Given the description of an element on the screen output the (x, y) to click on. 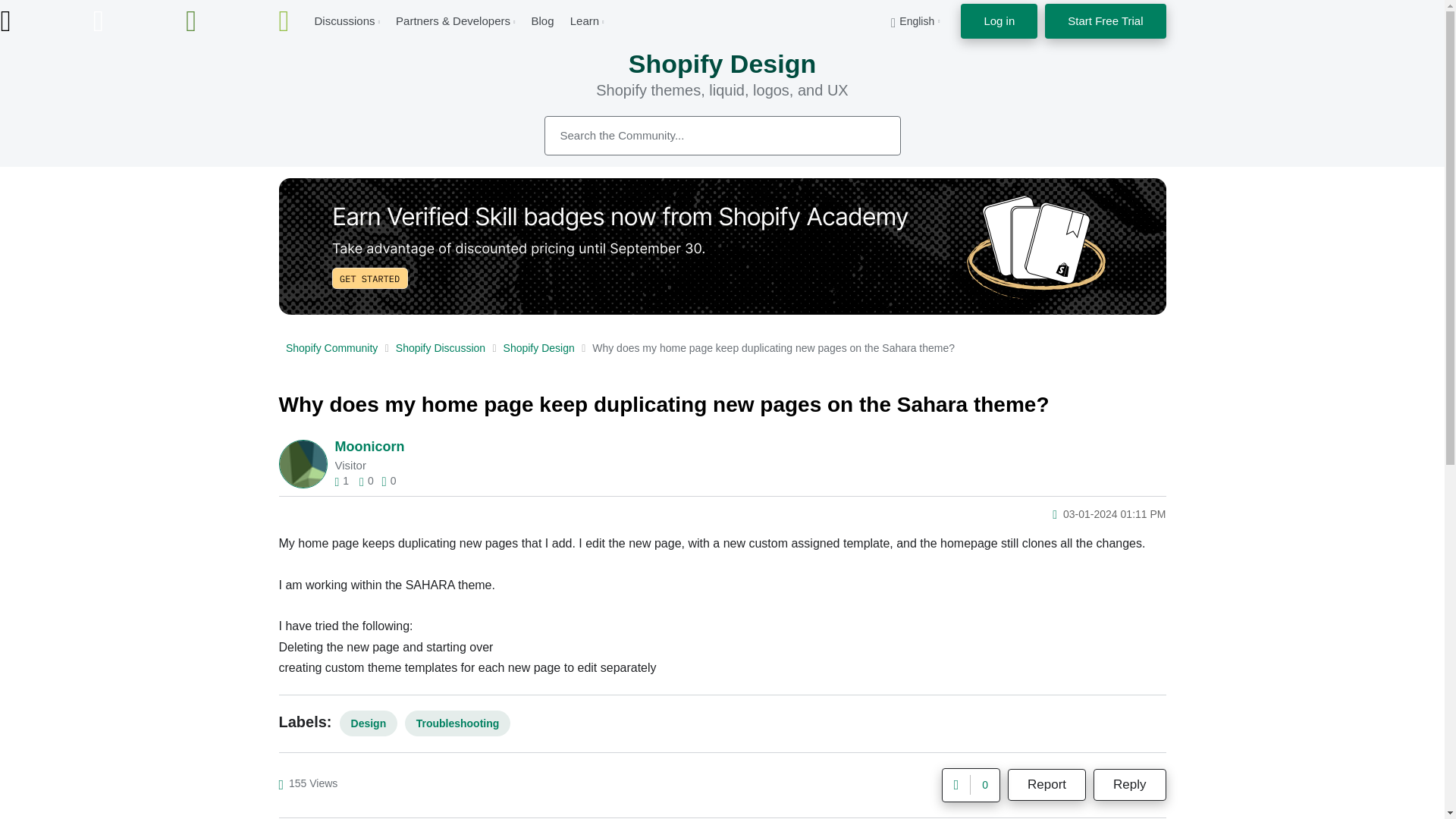
Search (872, 135)
Search (872, 135)
Discussions (344, 20)
Search (722, 135)
